Given the description of an element on the screen output the (x, y) to click on. 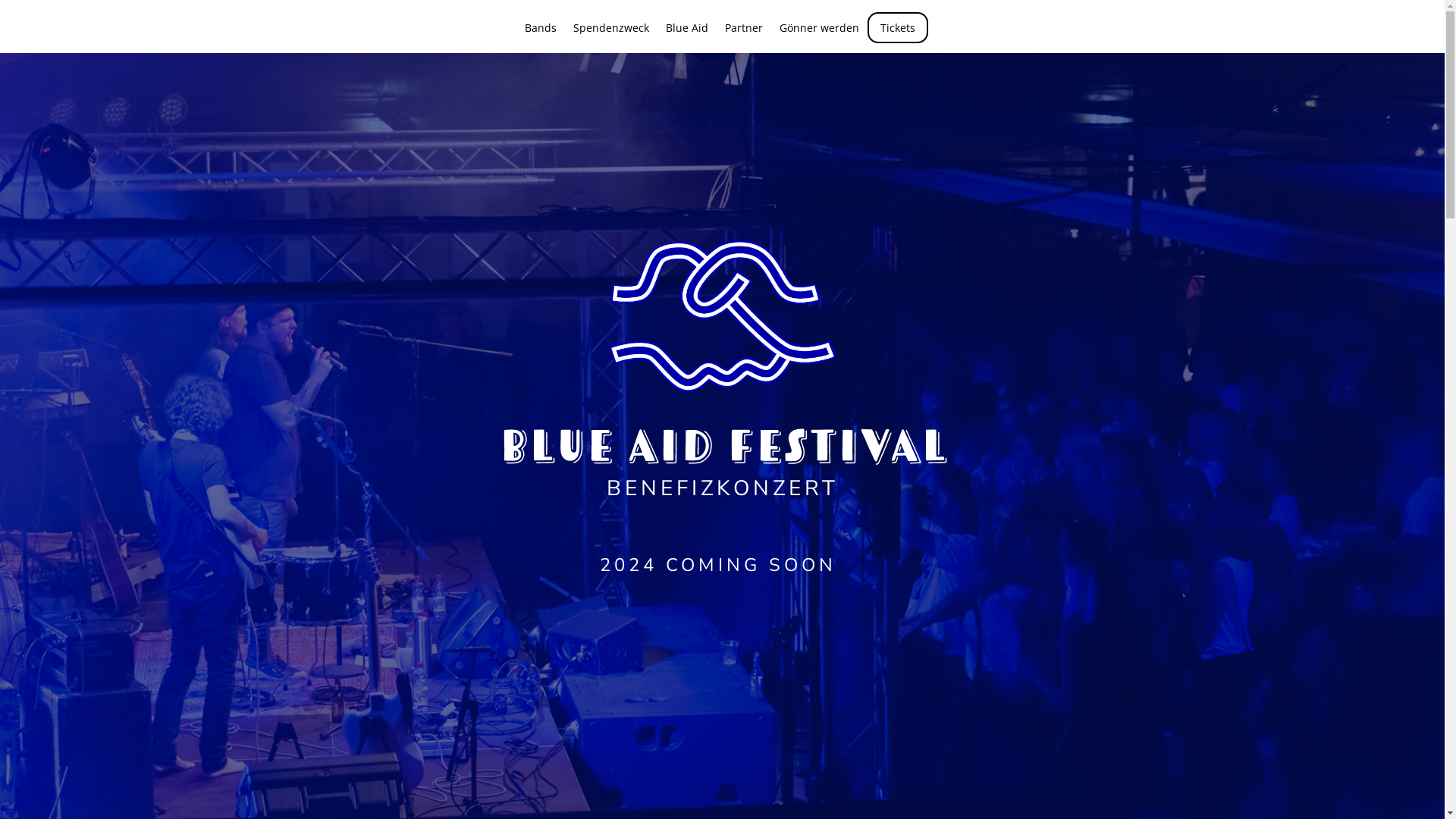
Partner Element type: text (743, 38)
Blue Aid Element type: text (686, 38)
Spendenzweck Element type: text (611, 38)
Tickets Element type: text (897, 27)
Bands Element type: text (540, 38)
